Given the description of an element on the screen output the (x, y) to click on. 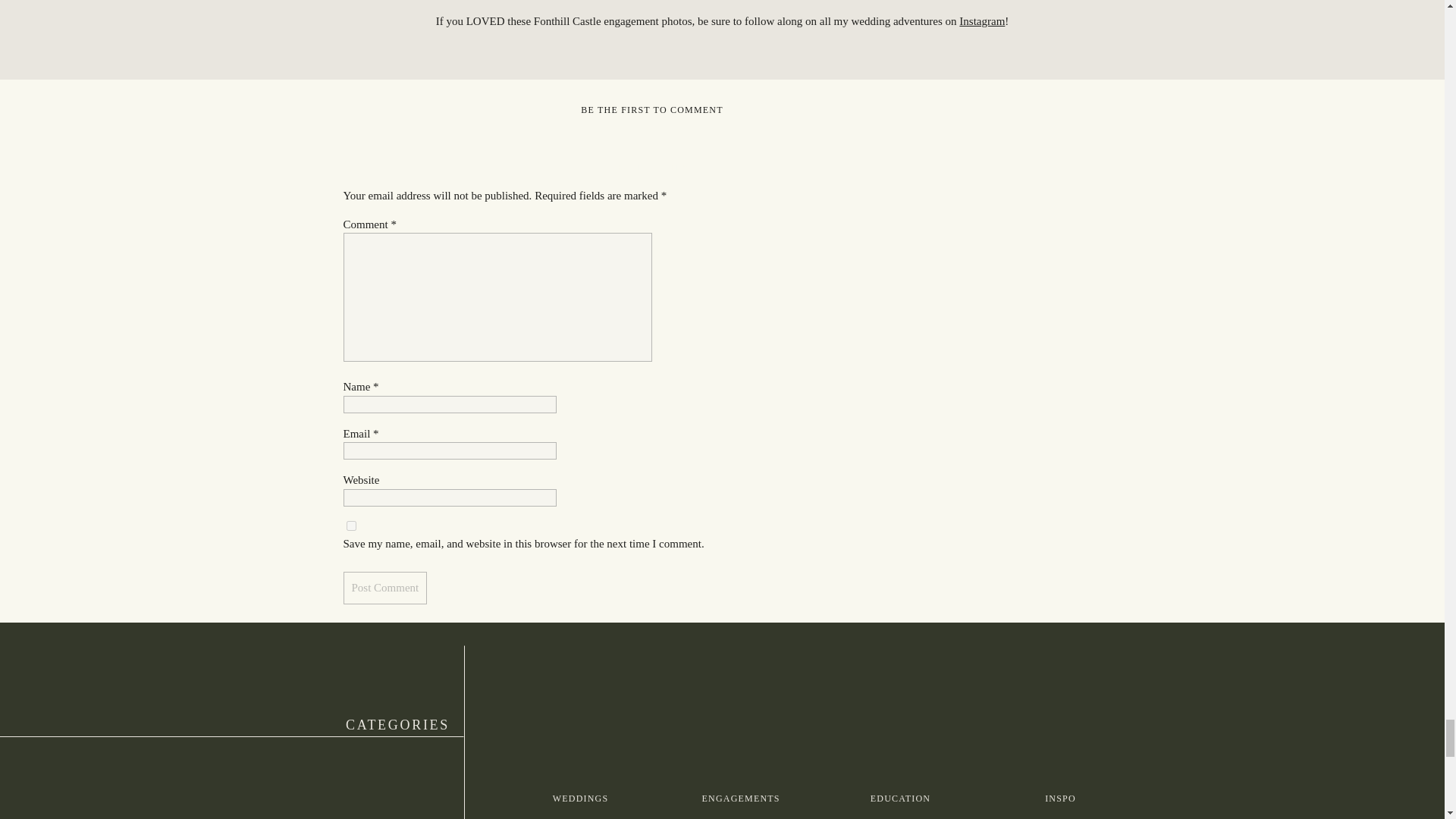
BE THE FIRST TO COMMENT (651, 109)
yes (350, 525)
INSPO (1060, 798)
Post Comment (384, 587)
WEDDINGS (579, 798)
Instagram (981, 21)
Post Comment (384, 587)
ENGAGEMENTS (739, 798)
